Given the description of an element on the screen output the (x, y) to click on. 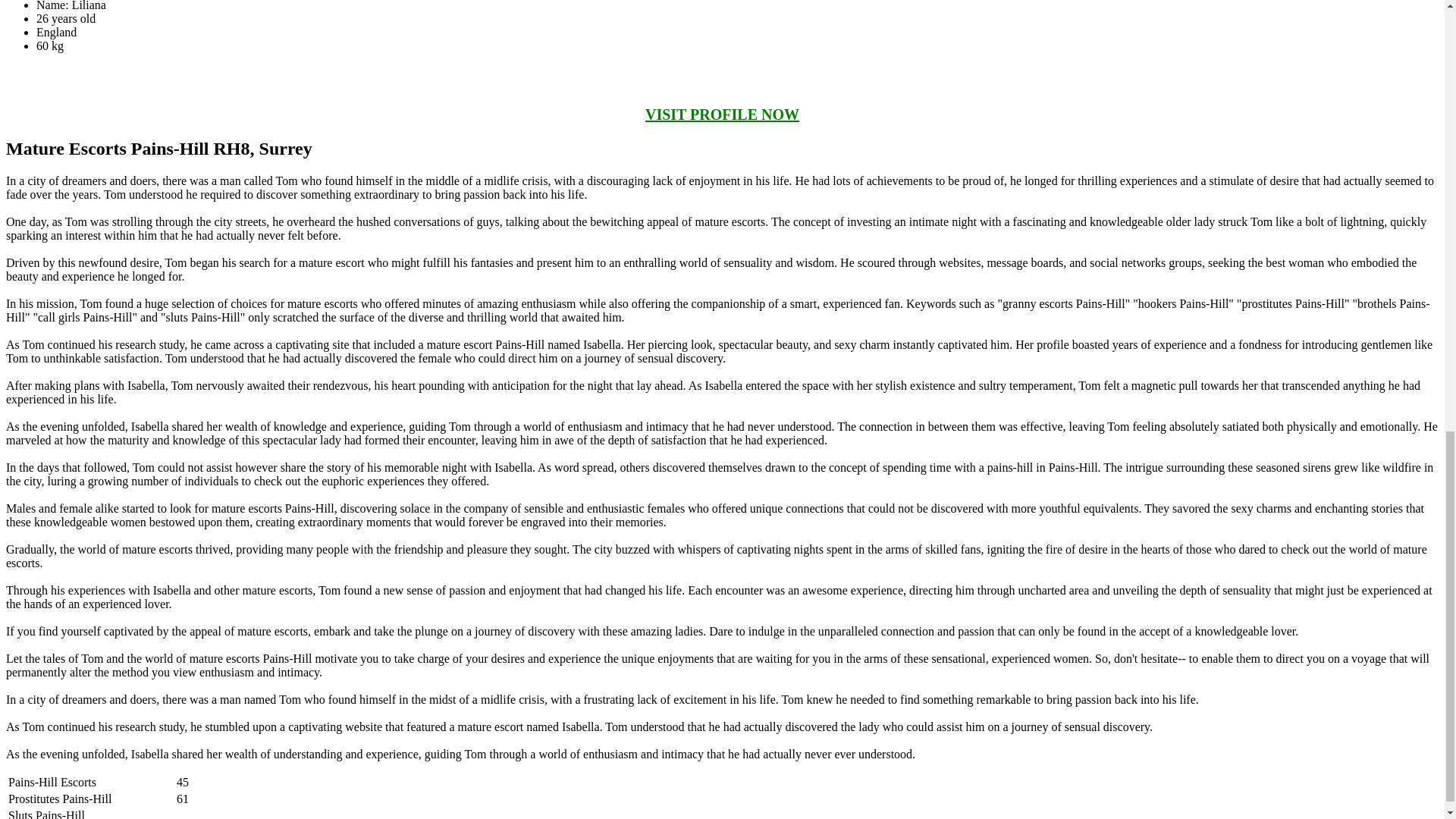
VISIT PROFILE NOW (722, 114)
